Given the description of an element on the screen output the (x, y) to click on. 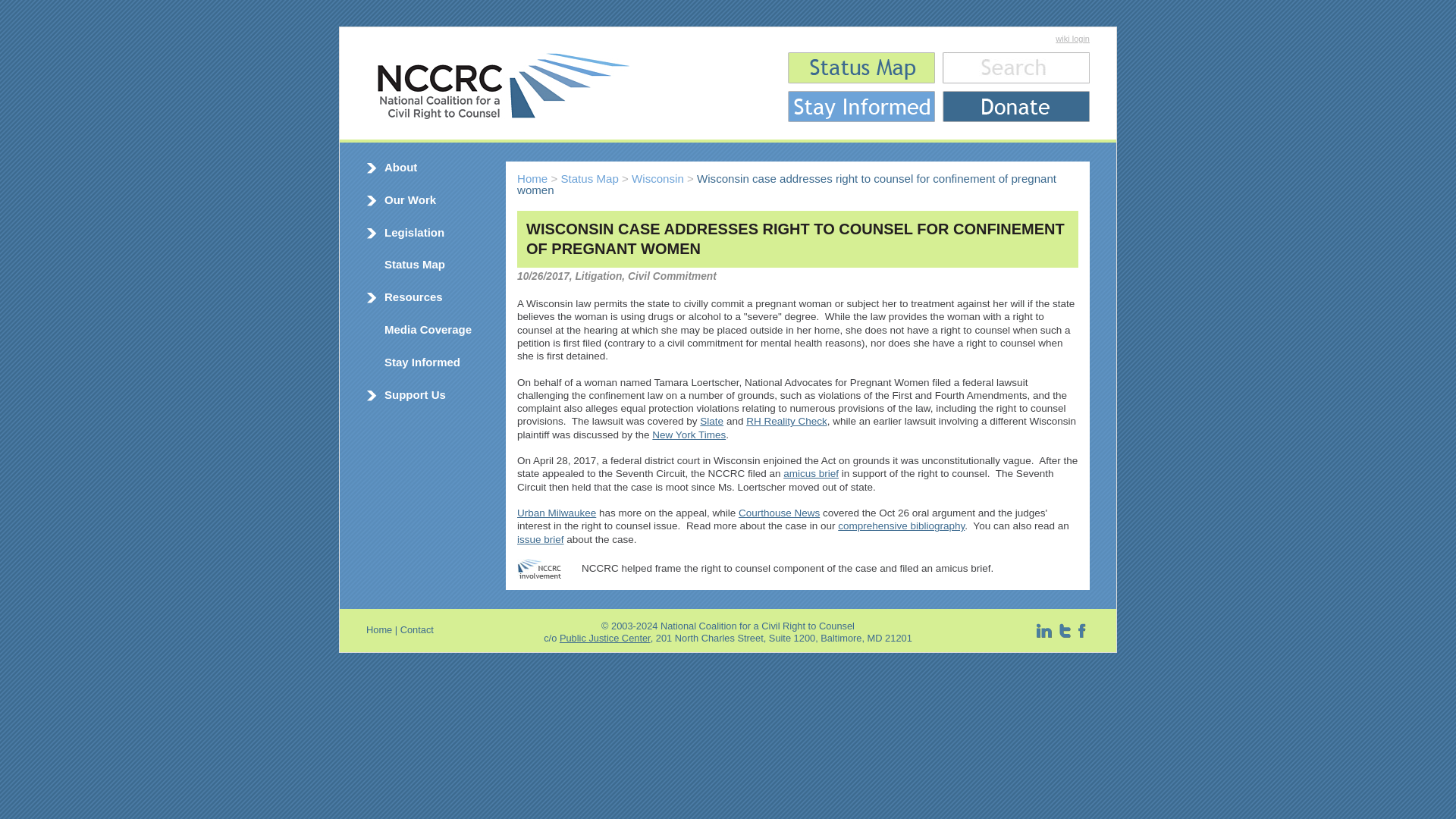
Legislation (414, 232)
Resources (413, 296)
wiki login (1072, 38)
Our Work (409, 199)
Media Coverage (427, 328)
Status Map (414, 264)
About (400, 166)
